Given the description of an element on the screen output the (x, y) to click on. 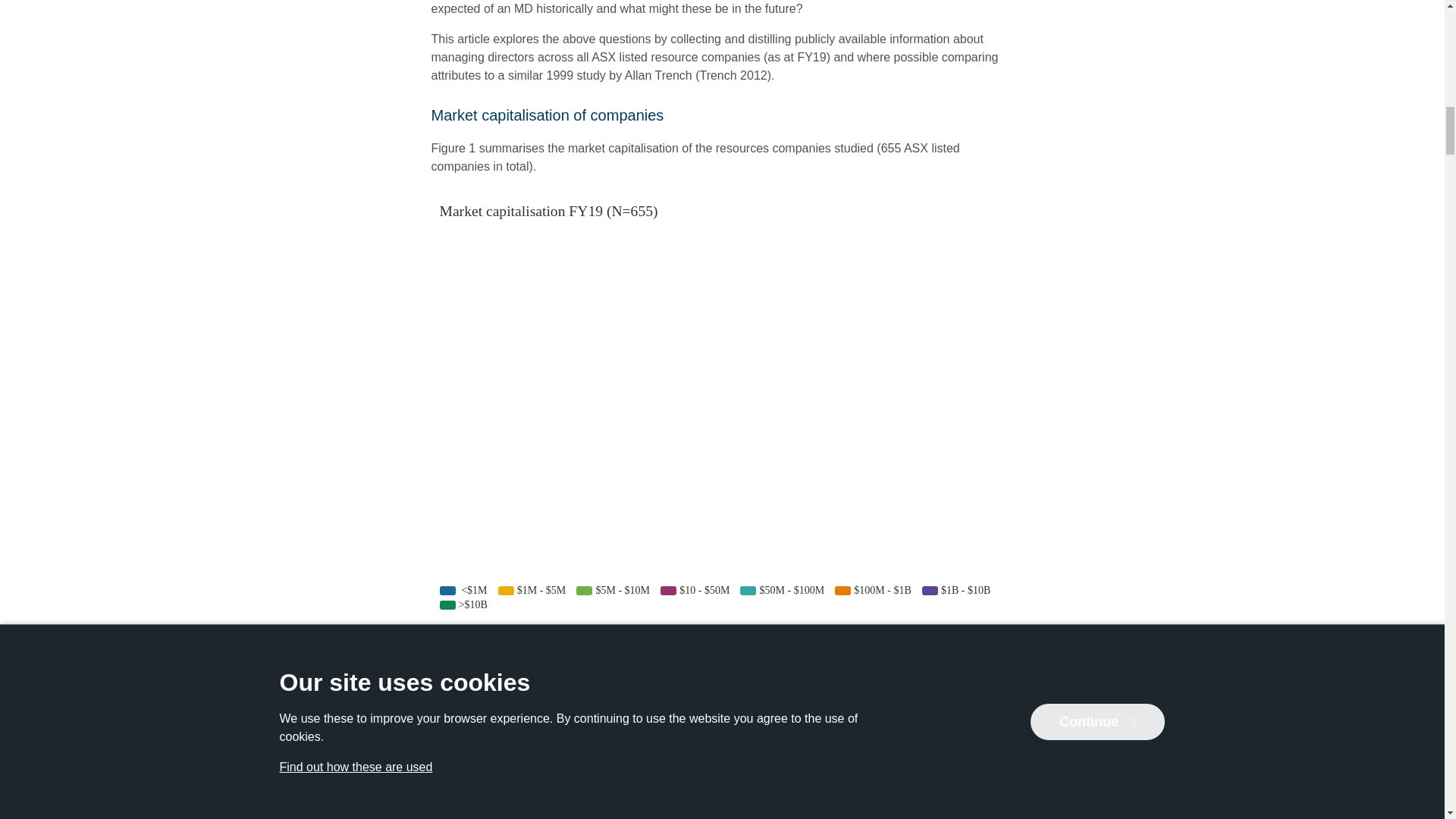
A Flourish chart (972, 641)
Interactive or visual content (721, 812)
